Given the description of an element on the screen output the (x, y) to click on. 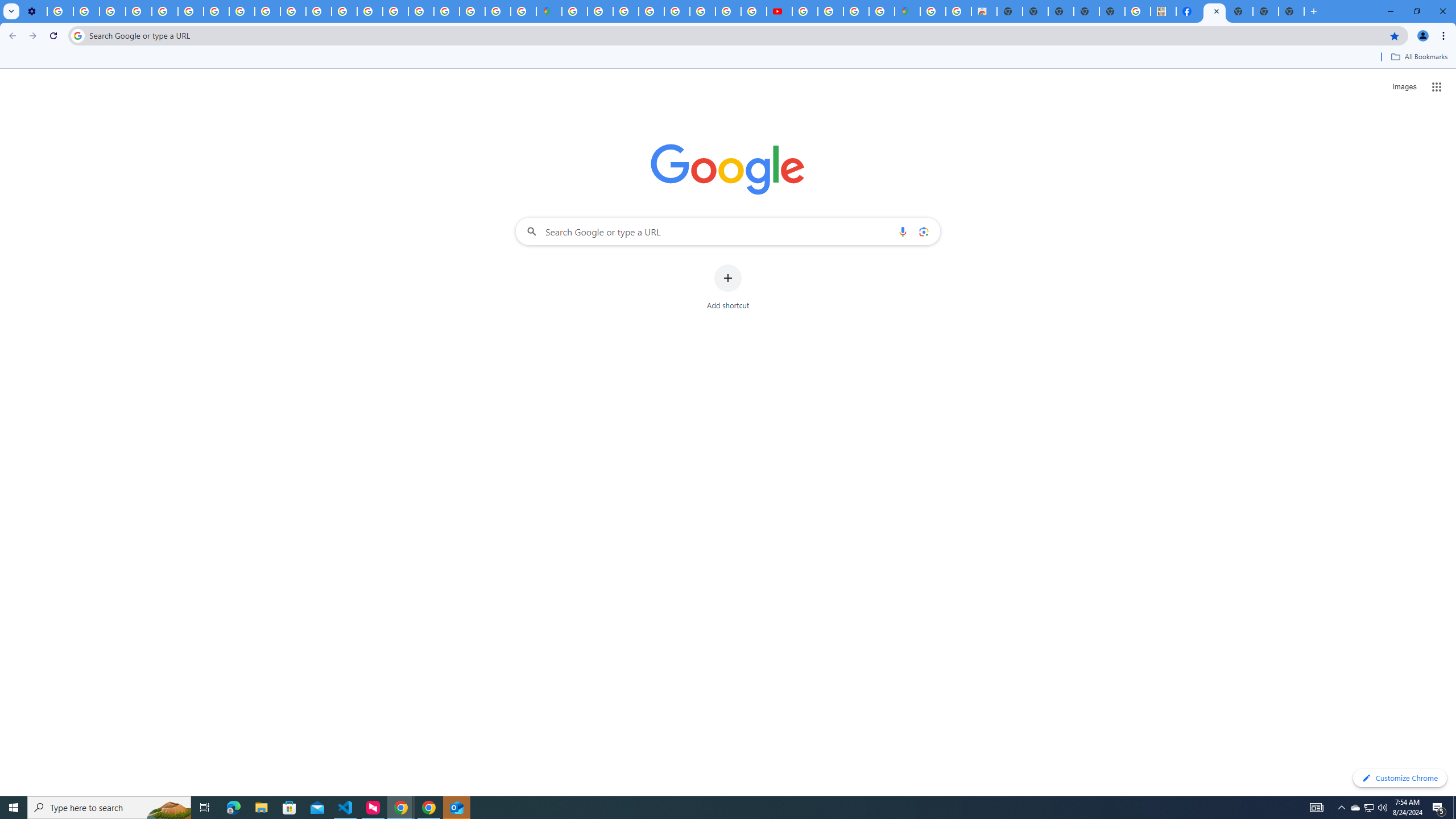
Learn how to find your photos - Google Photos Help (86, 11)
How Chrome protects your passwords - Google Chrome Help (804, 11)
Bookmarks (728, 58)
Google Account Help (138, 11)
Delete photos & videos - Computer - Google Photos Help (60, 11)
